Given the description of an element on the screen output the (x, y) to click on. 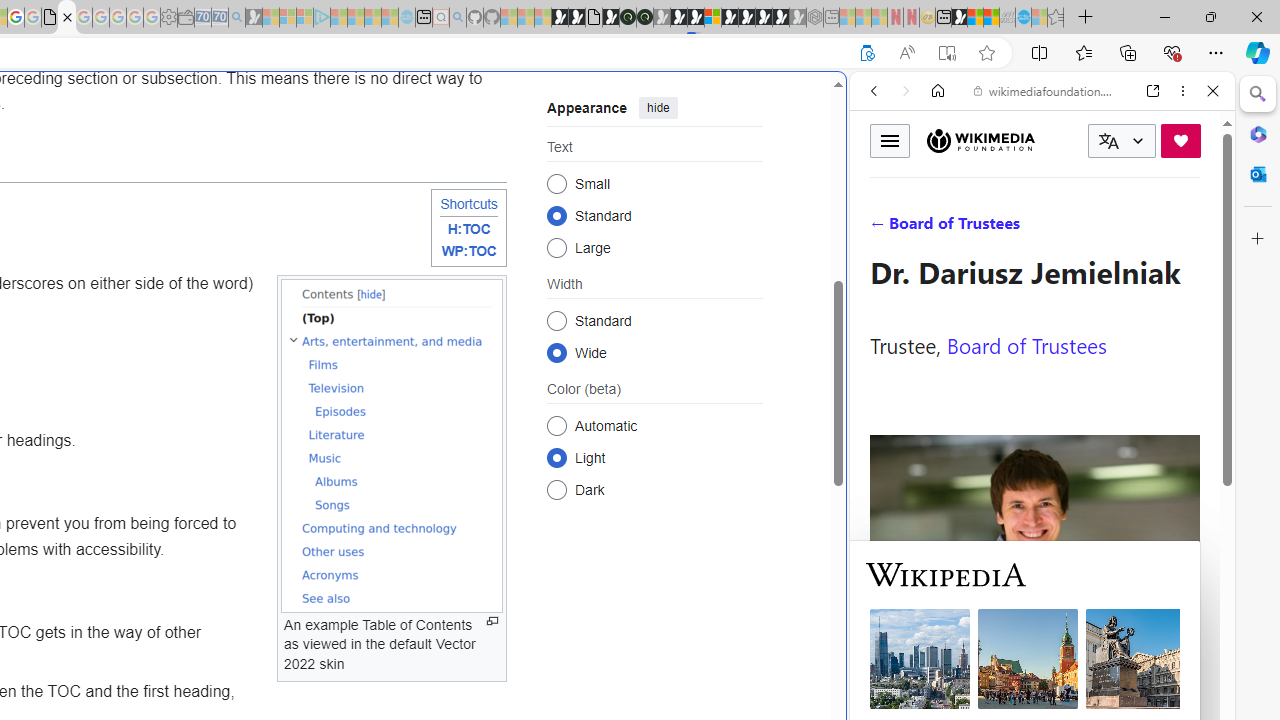
Close split screen (844, 102)
Class: b_serphb (1190, 229)
This site scope (936, 180)
Home | Sky Blue Bikes - Sky Blue Bikes - Sleeping (406, 17)
